Given the description of an element on the screen output the (x, y) to click on. 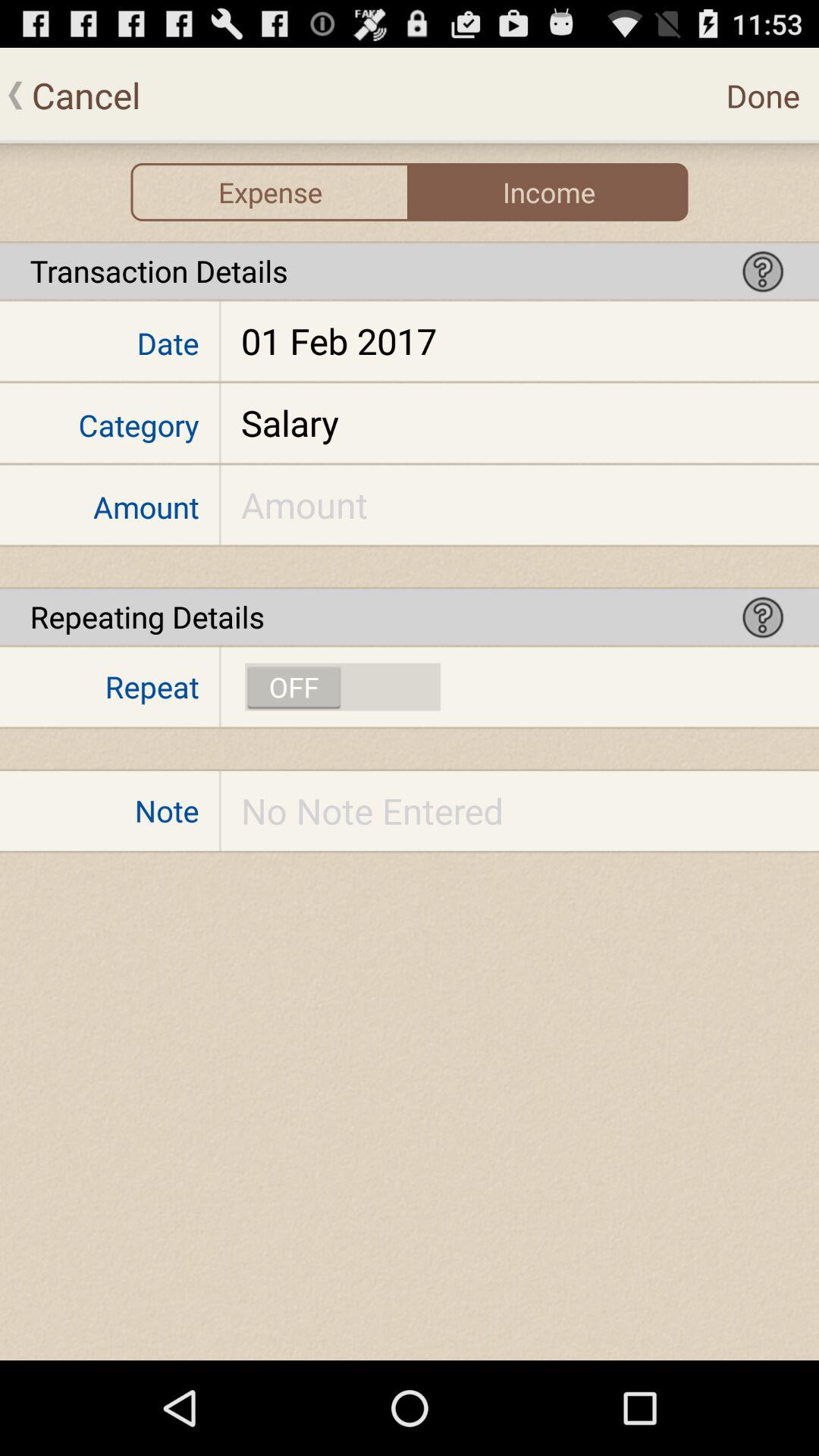
toggle repeat details on or off (342, 686)
